Given the description of an element on the screen output the (x, y) to click on. 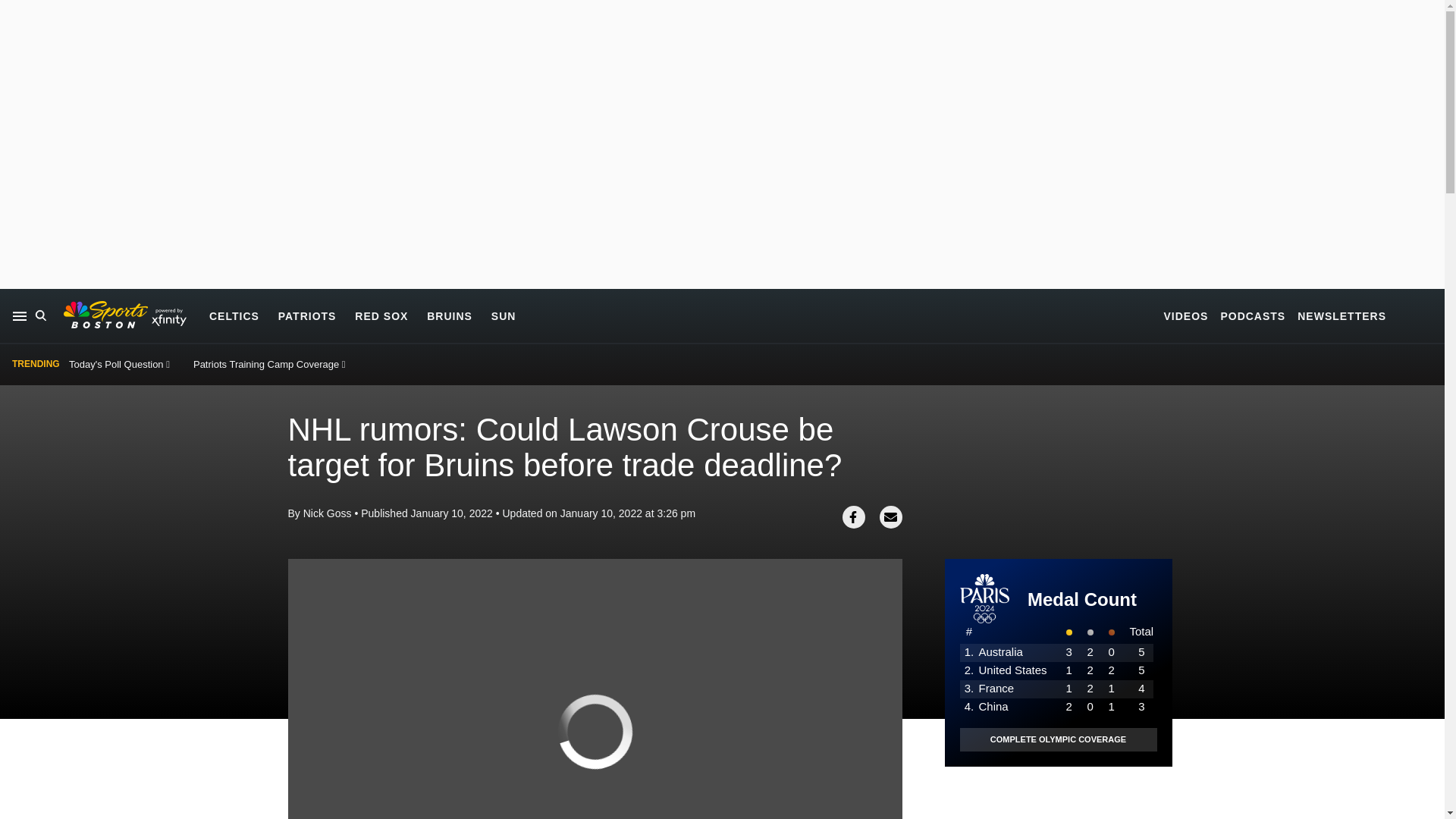
Nick Goss (327, 512)
NEWSLETTERS (1341, 315)
SUN (504, 315)
BRUINS (448, 315)
PATRIOTS (307, 315)
PODCASTS (1252, 315)
VIDEOS (1185, 315)
CELTICS (234, 315)
RED SOX (381, 315)
